Given the description of an element on the screen output the (x, y) to click on. 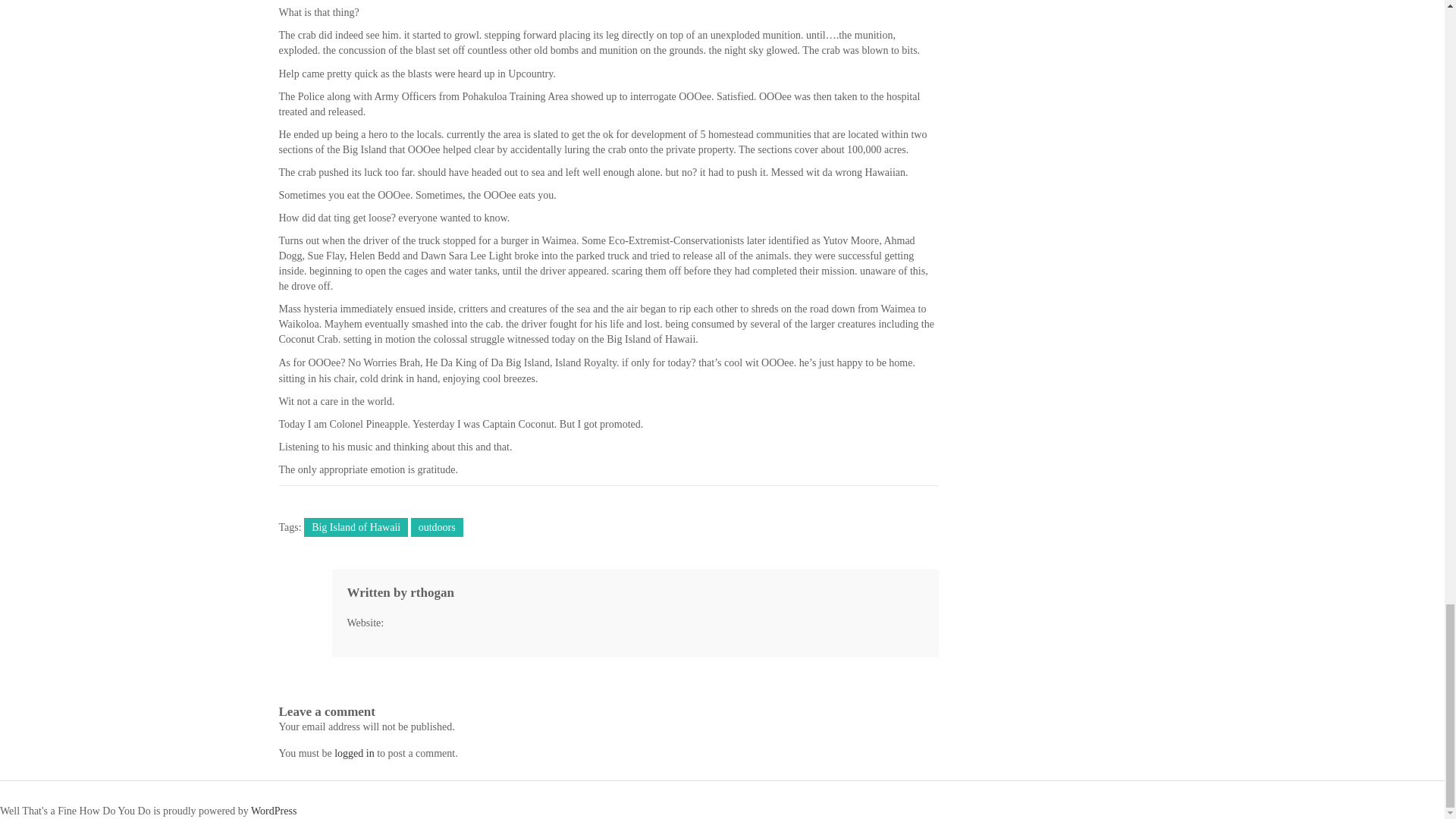
Big Island of Hawaii (355, 527)
logged in (354, 753)
outdoors (436, 527)
